Given the description of an element on the screen output the (x, y) to click on. 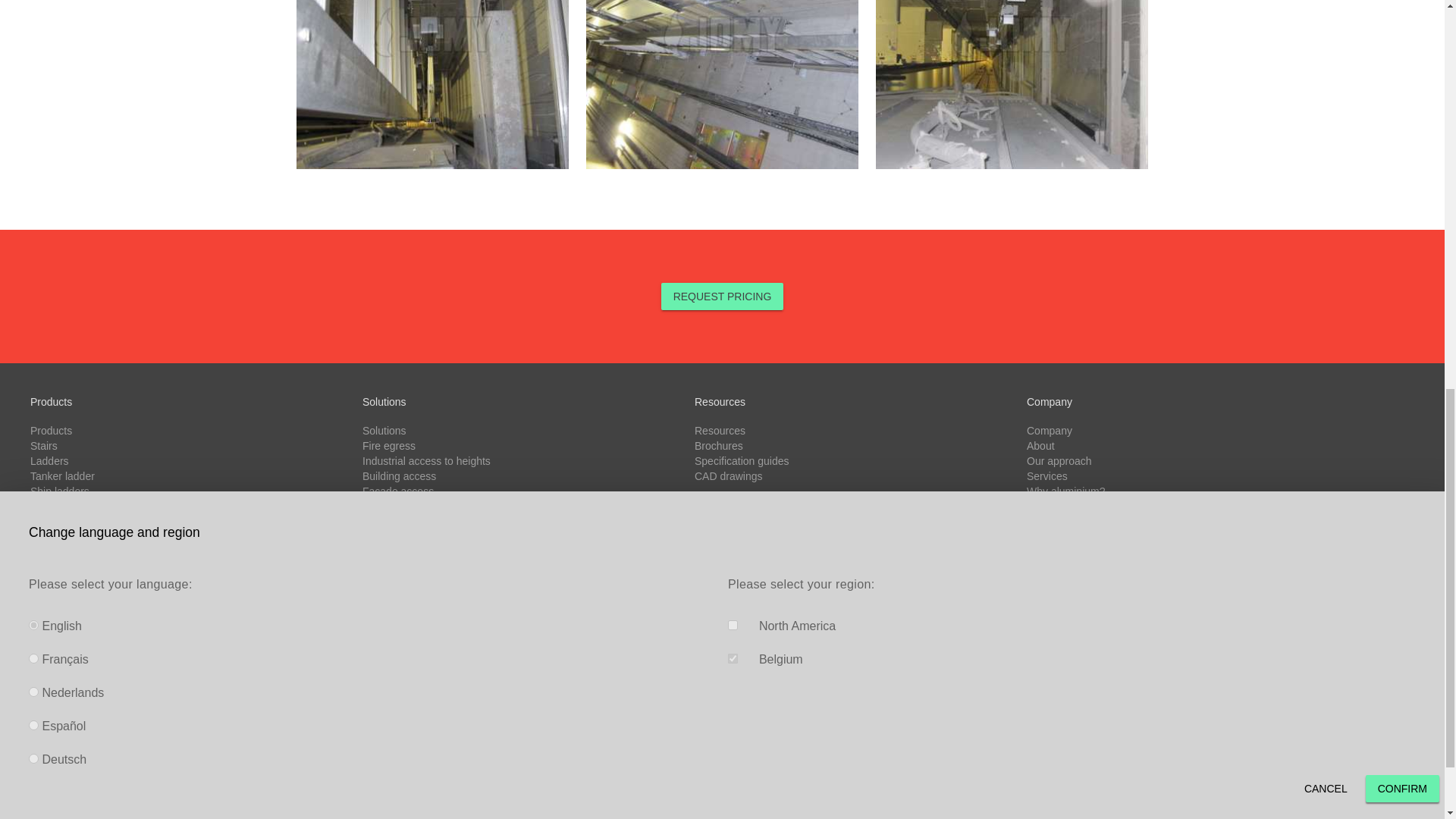
Industrial access to heights (426, 460)
JOMY - mini installed in a elevator shaft (722, 84)
Tanker ladder (62, 476)
Industrial stairs (65, 612)
Solutions (384, 430)
Walkways (54, 521)
Fire egress (388, 445)
Platform steps (63, 627)
JOMY - mini installed in a elevator shaft (1012, 84)
JOMY - mini installed in a elevator shaft (432, 84)
